Given the description of an element on the screen output the (x, y) to click on. 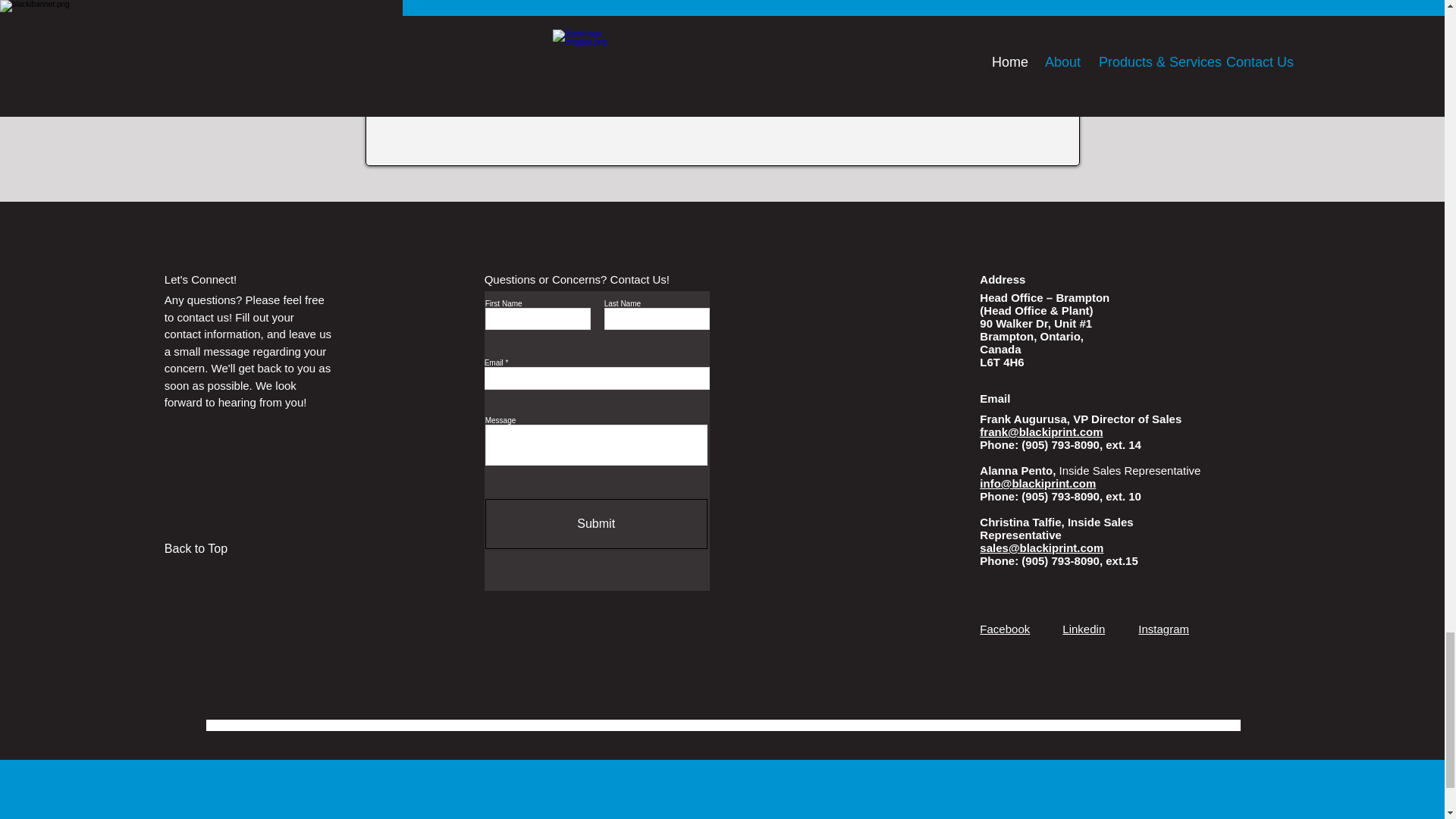
Facebook (1004, 628)
Submit (595, 523)
Instagram (1163, 628)
Click Here (722, 43)
Back to Top (218, 548)
Linkedin (1083, 628)
